Given the description of an element on the screen output the (x, y) to click on. 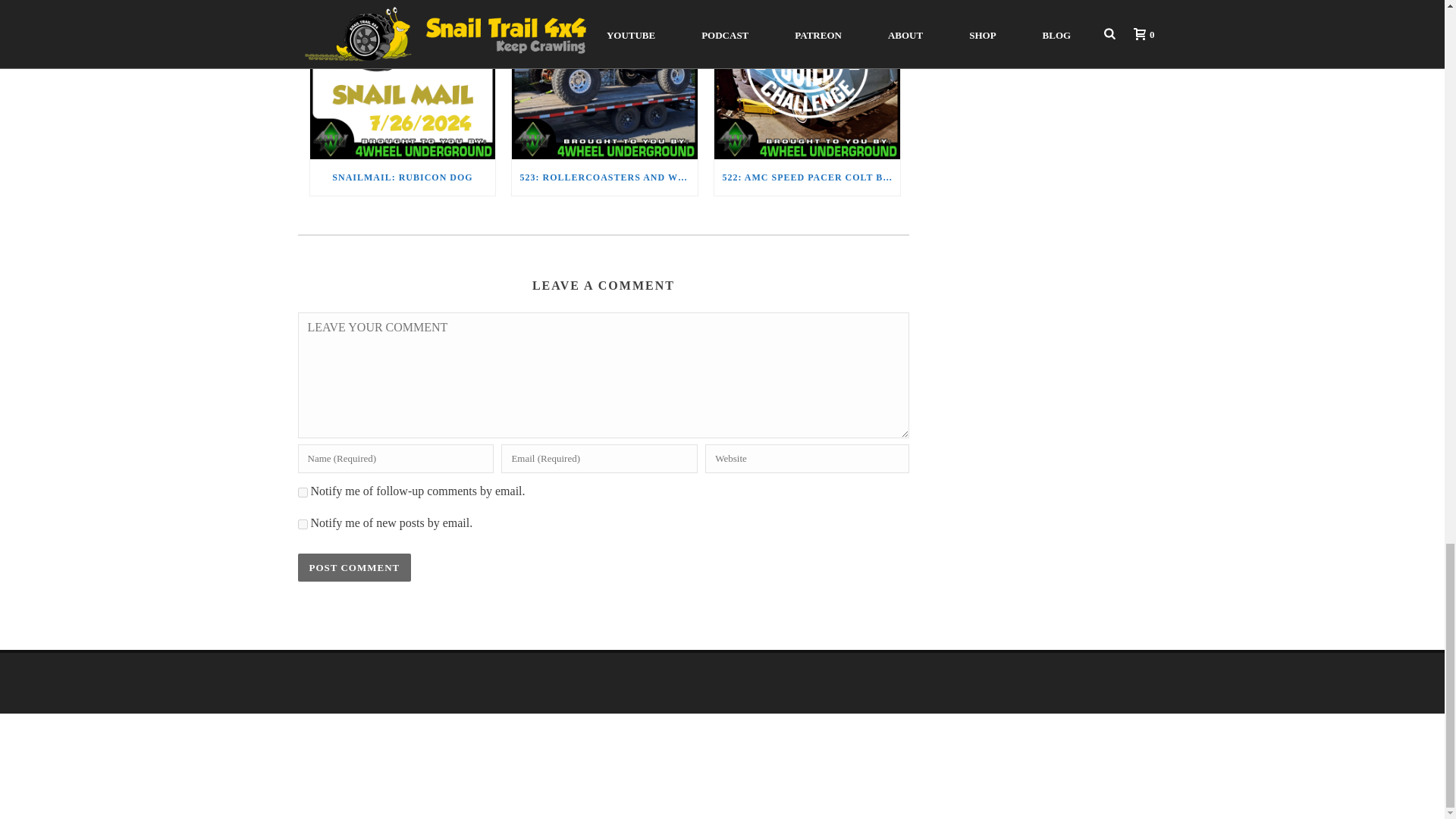
SnailMail: Rubicon Dog (401, 79)
subscribe (302, 492)
POST COMMENT (353, 567)
subscribe (302, 524)
